Given the description of an element on the screen output the (x, y) to click on. 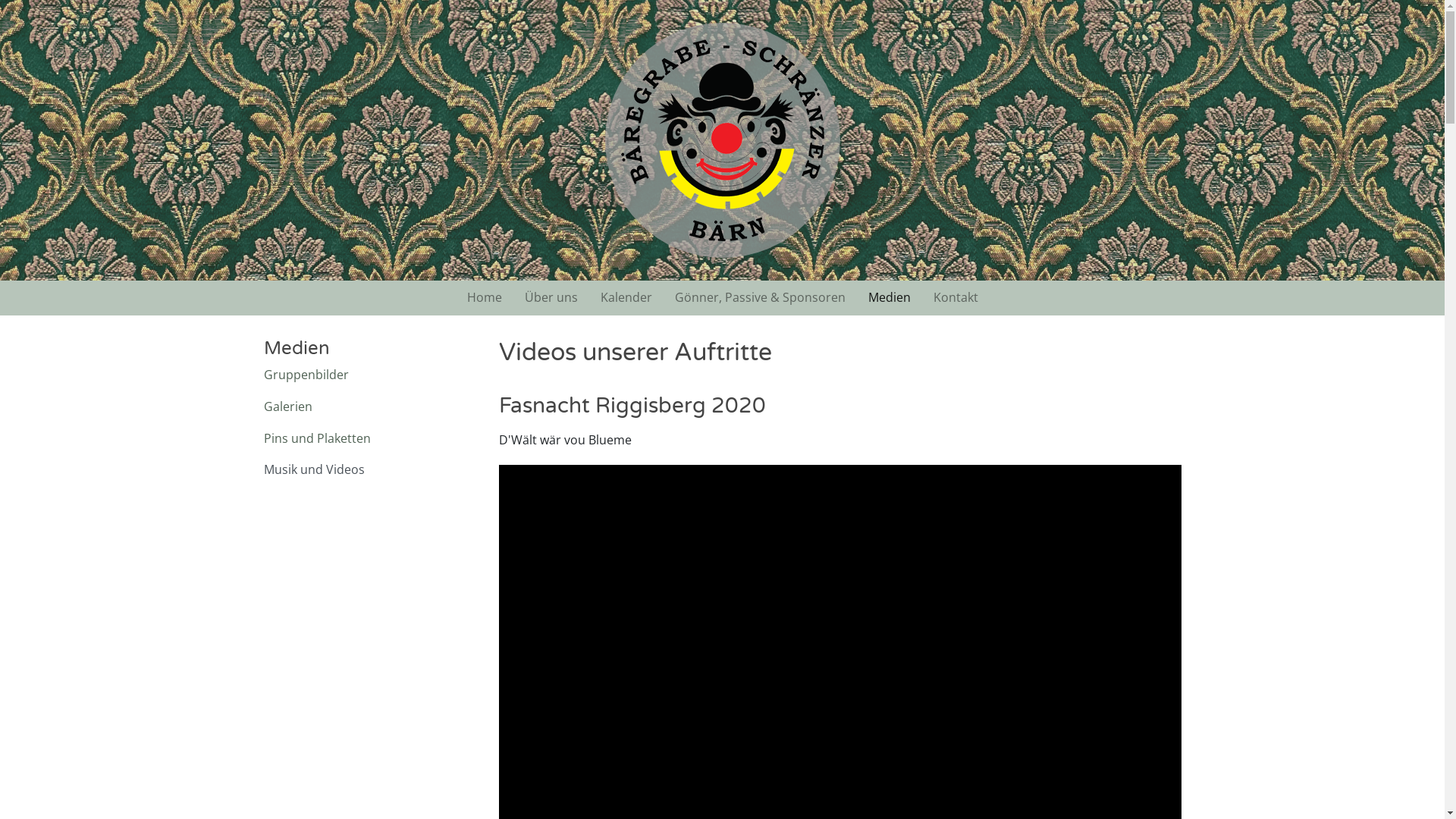
Galerien Element type: text (369, 407)
Musik und Videos Element type: text (369, 470)
Kontakt Element type: text (955, 297)
Gruppenbilder Element type: text (369, 375)
Medien Element type: text (889, 297)
Pins und Plaketten Element type: text (369, 439)
Kalender Element type: text (625, 297)
Home Element type: text (483, 297)
